Given the description of an element on the screen output the (x, y) to click on. 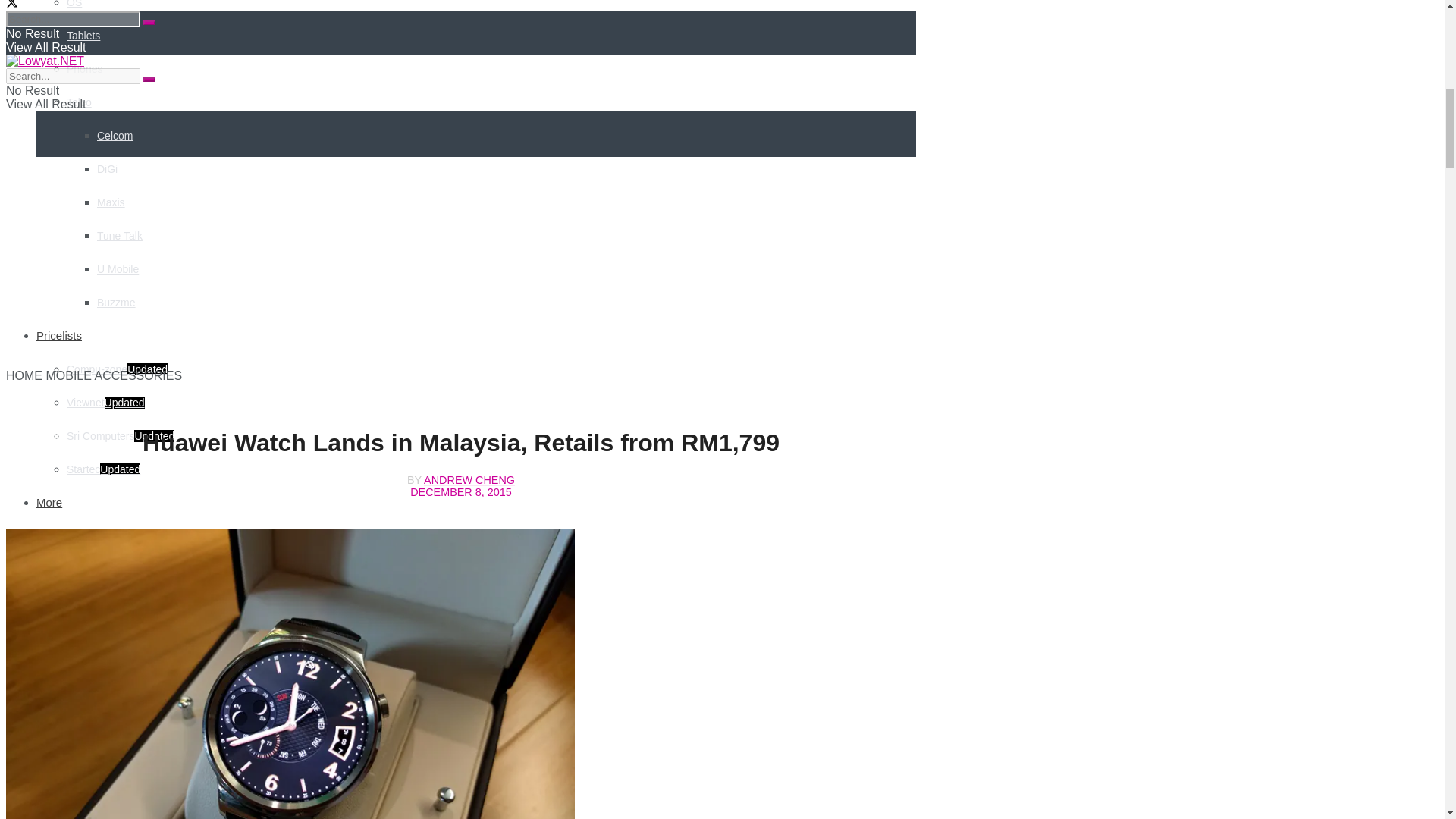
OS (73, 4)
Telco (78, 102)
Tune Talk (119, 235)
Tablets (83, 35)
Celcom (114, 135)
DiGi (107, 168)
Phones (83, 69)
Maxis (111, 202)
